Given the description of an element on the screen output the (x, y) to click on. 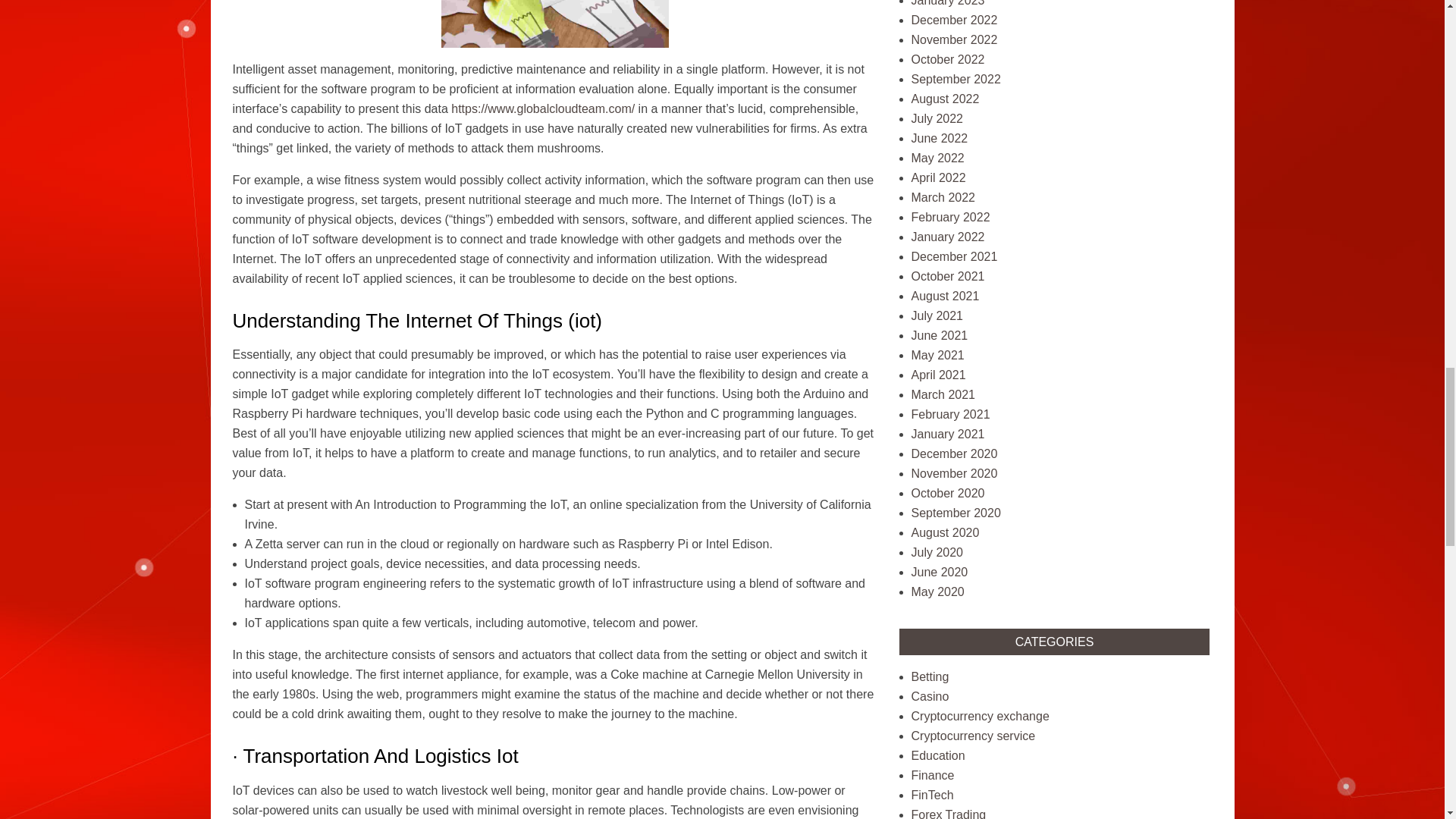
November 2022 (954, 39)
January 2023 (948, 3)
December 2022 (954, 19)
